Given the description of an element on the screen output the (x, y) to click on. 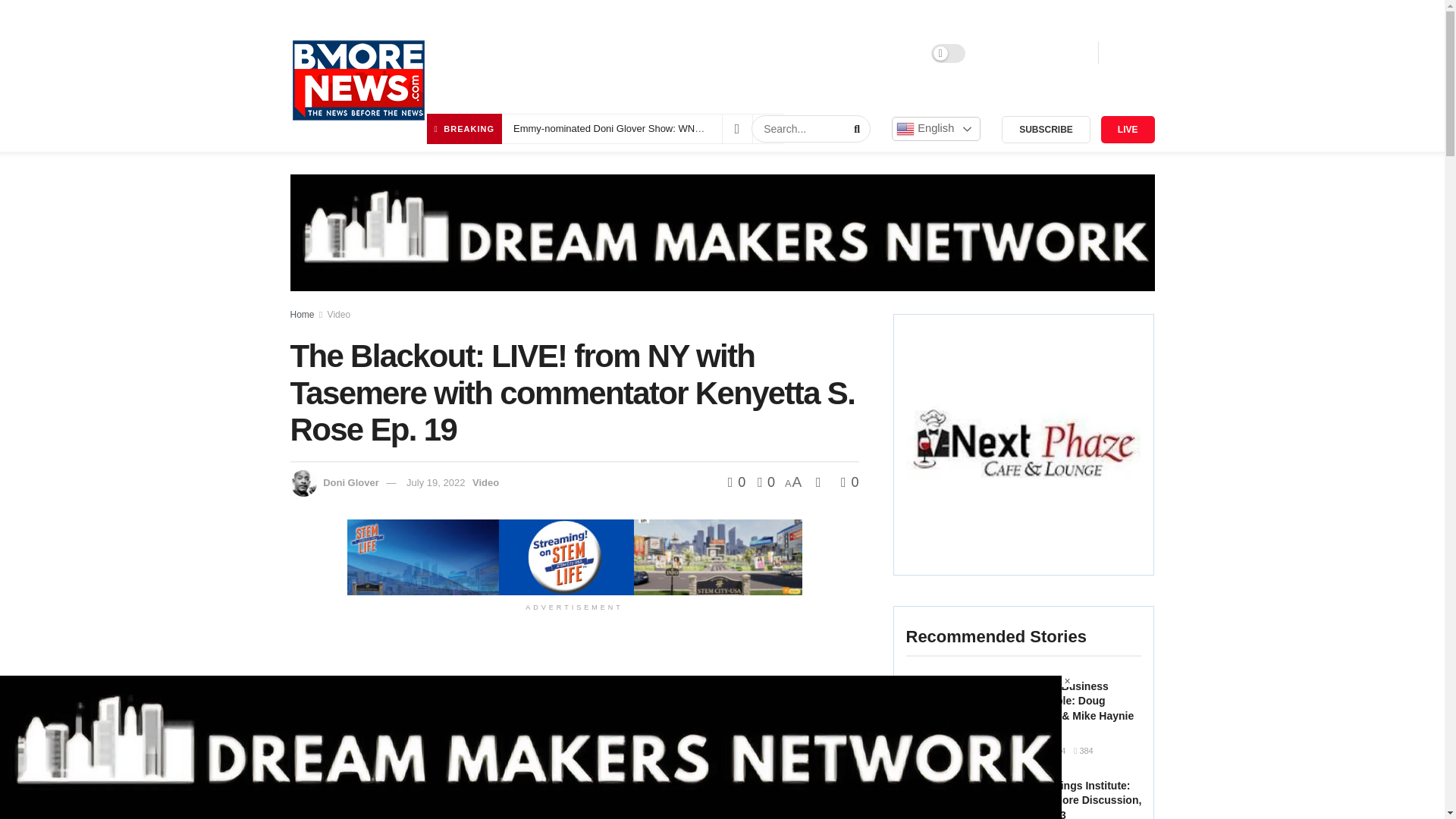
BUSINESS (707, 53)
LATEST NEWS (491, 53)
VIDEOS (901, 53)
POLITICS (838, 53)
Login (1005, 53)
SUBSCRIBE (1045, 129)
LIVE (1127, 129)
close (1067, 681)
English (935, 128)
STOCKS (773, 53)
Register (1061, 53)
BLACK WALL STREET (604, 53)
